Given the description of an element on the screen output the (x, y) to click on. 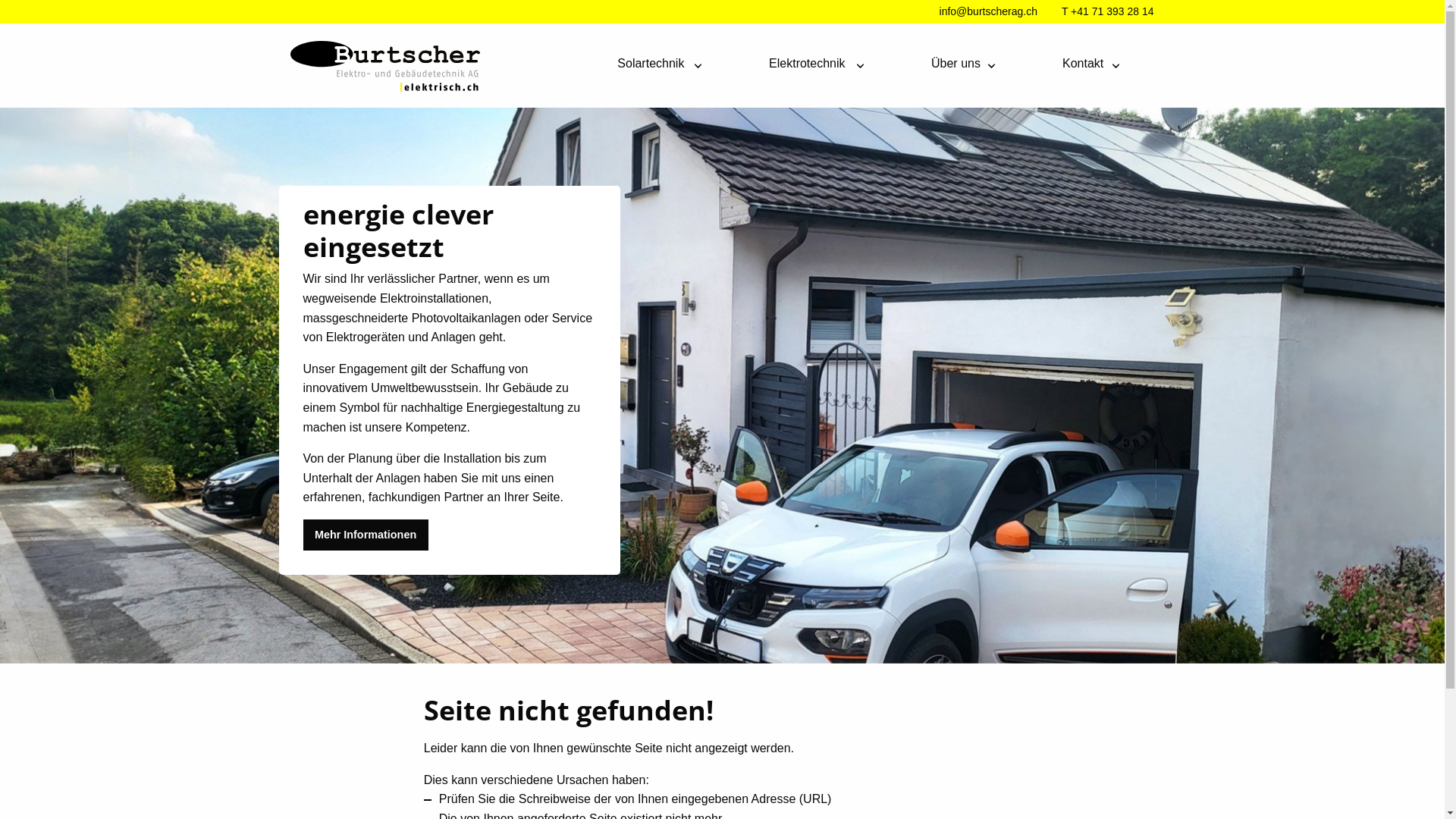
Elektrotechnik Element type: text (810, 59)
Solartechnik Element type: text (653, 59)
Kontakt Element type: text (1084, 59)
info@burtscherag.ch Element type: text (988, 11)
Mehr Informationen Element type: text (365, 534)
